Given the description of an element on the screen output the (x, y) to click on. 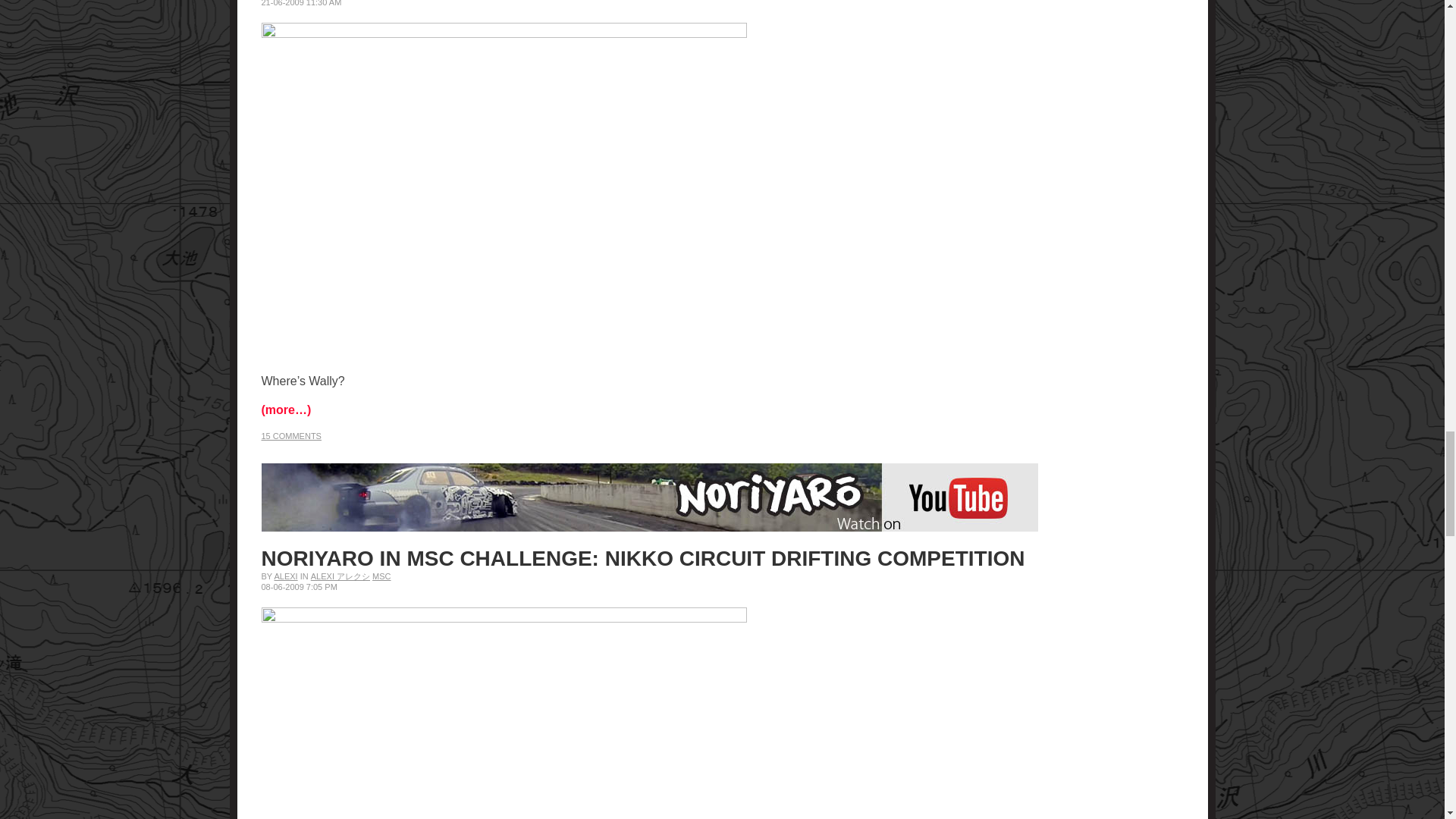
Posts by Alexi (285, 575)
15 COMMENTS (290, 435)
